Given the description of an element on the screen output the (x, y) to click on. 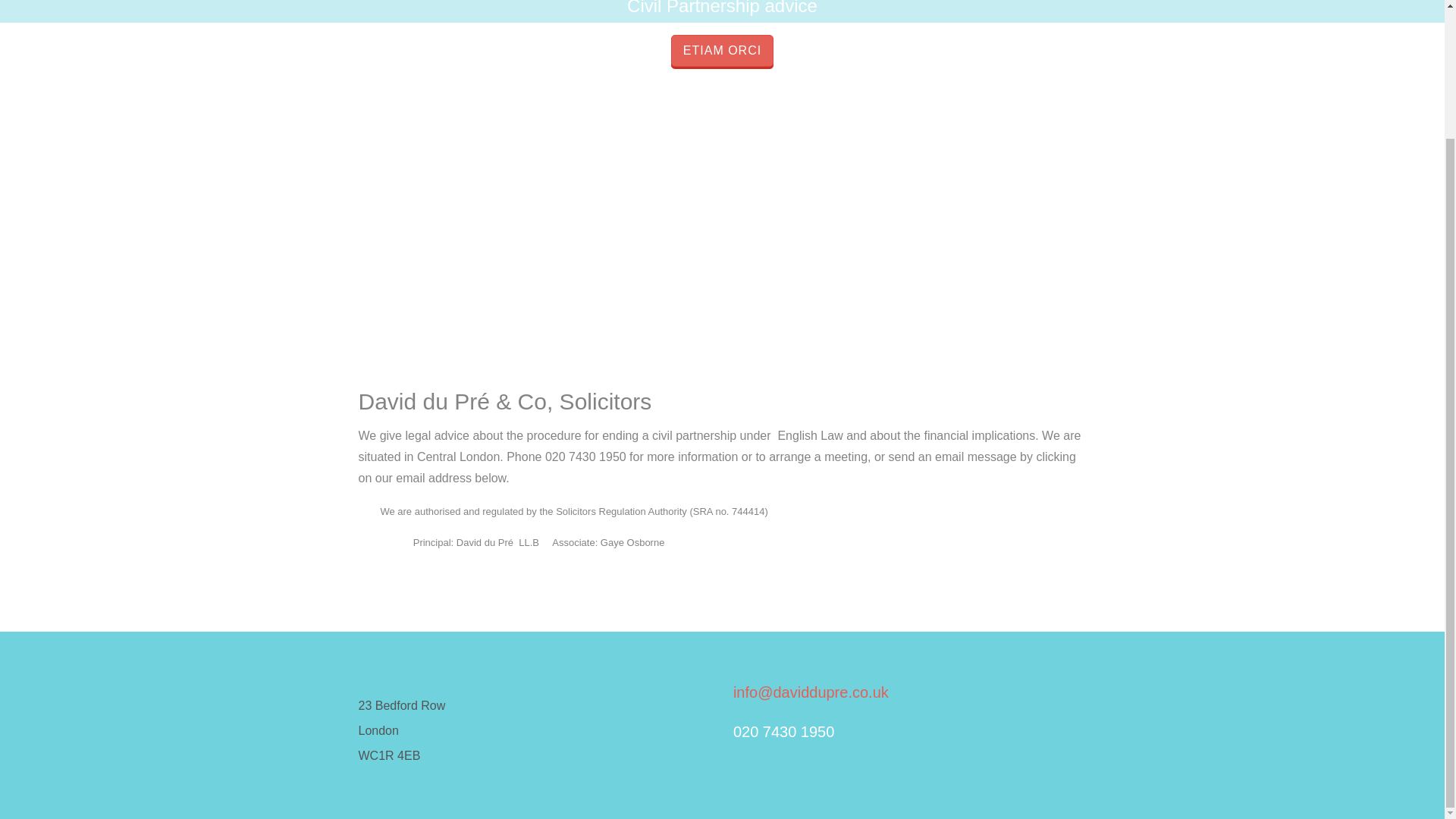
ETIAM ORCI (722, 50)
